Given the description of an element on the screen output the (x, y) to click on. 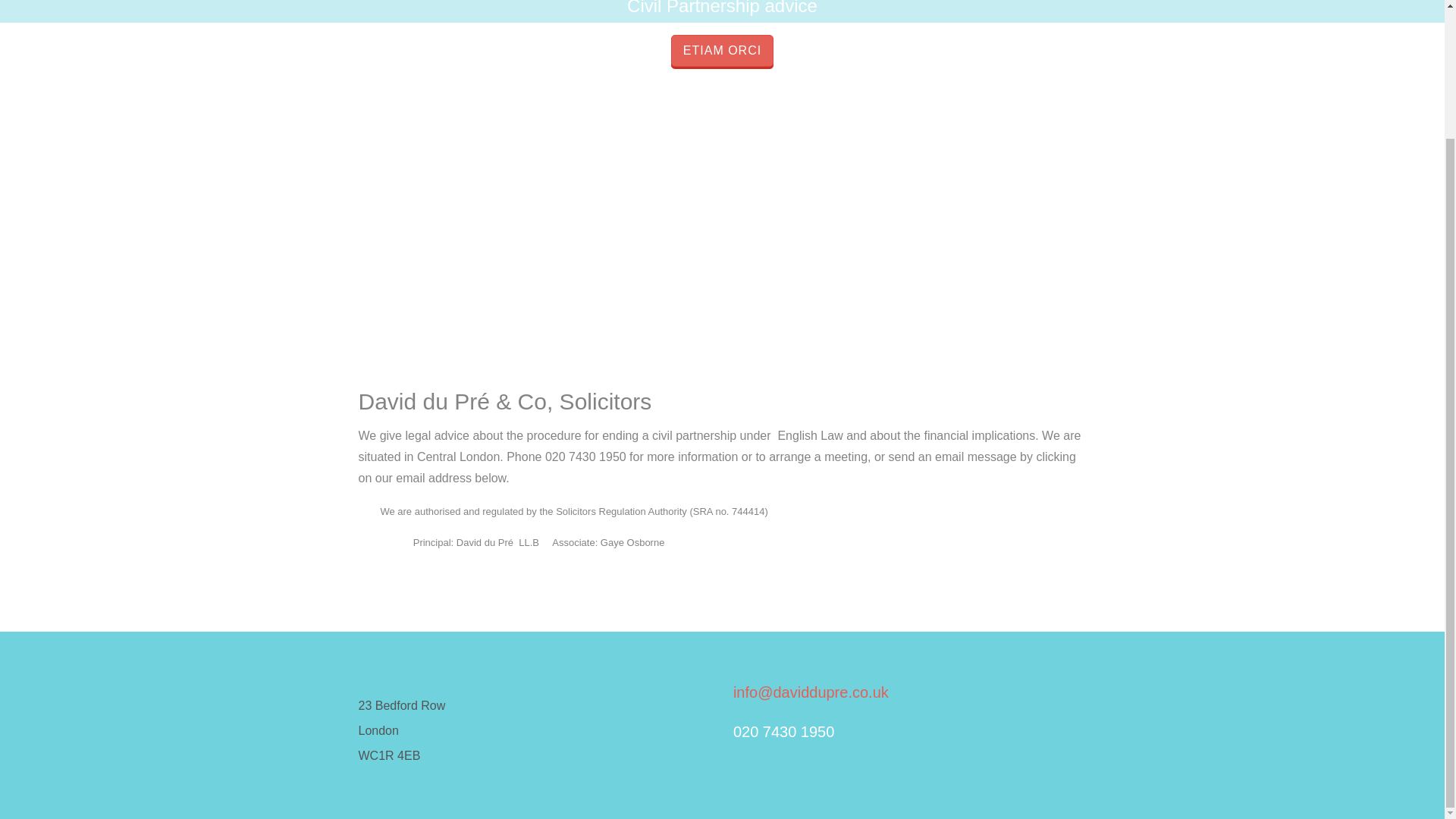
ETIAM ORCI (722, 50)
